Given the description of an element on the screen output the (x, y) to click on. 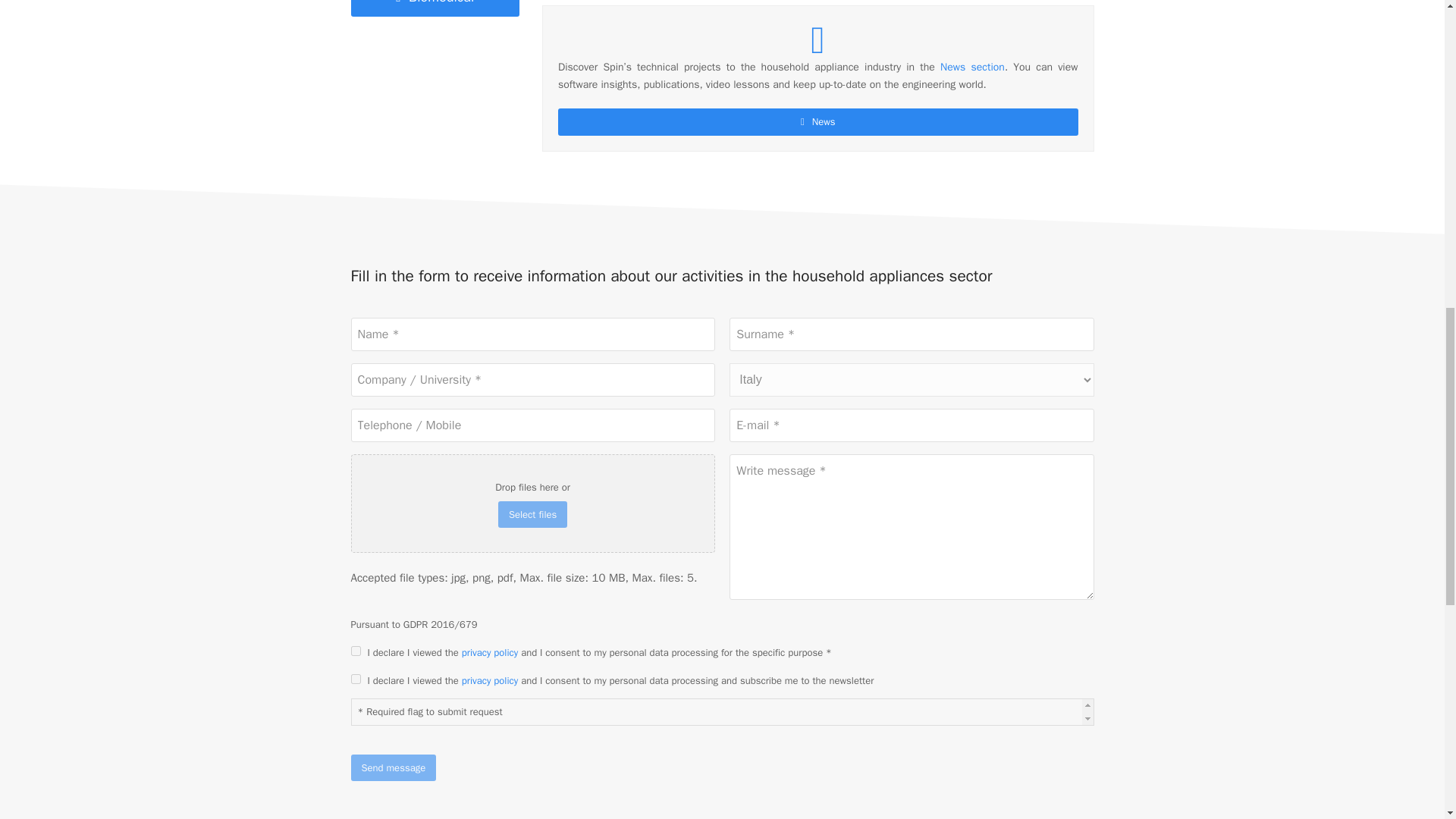
Send message (392, 767)
1 (354, 678)
1 (354, 651)
News (817, 121)
